Given the description of an element on the screen output the (x, y) to click on. 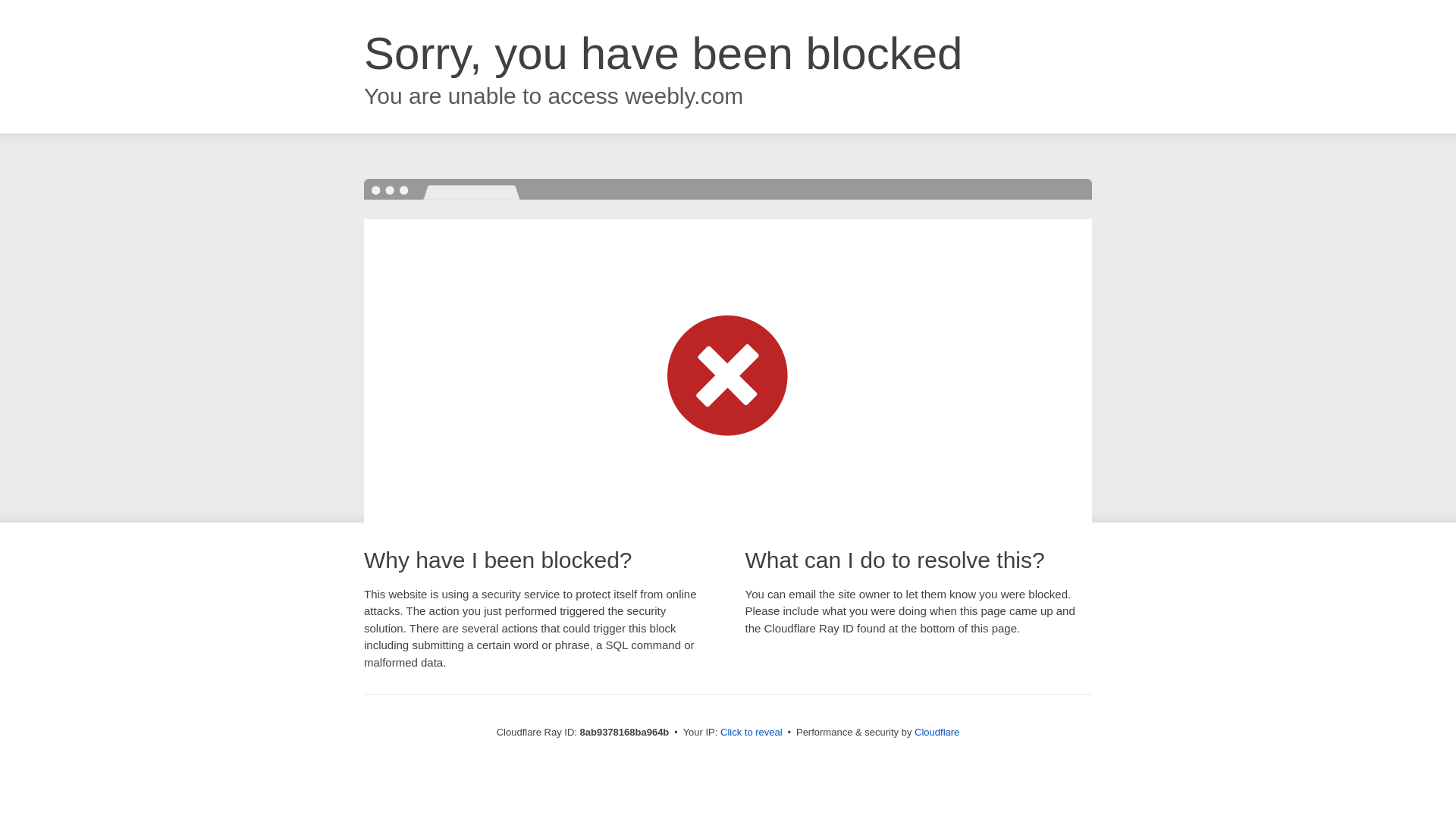
Cloudflare (936, 731)
Click to reveal (751, 732)
